Given the description of an element on the screen output the (x, y) to click on. 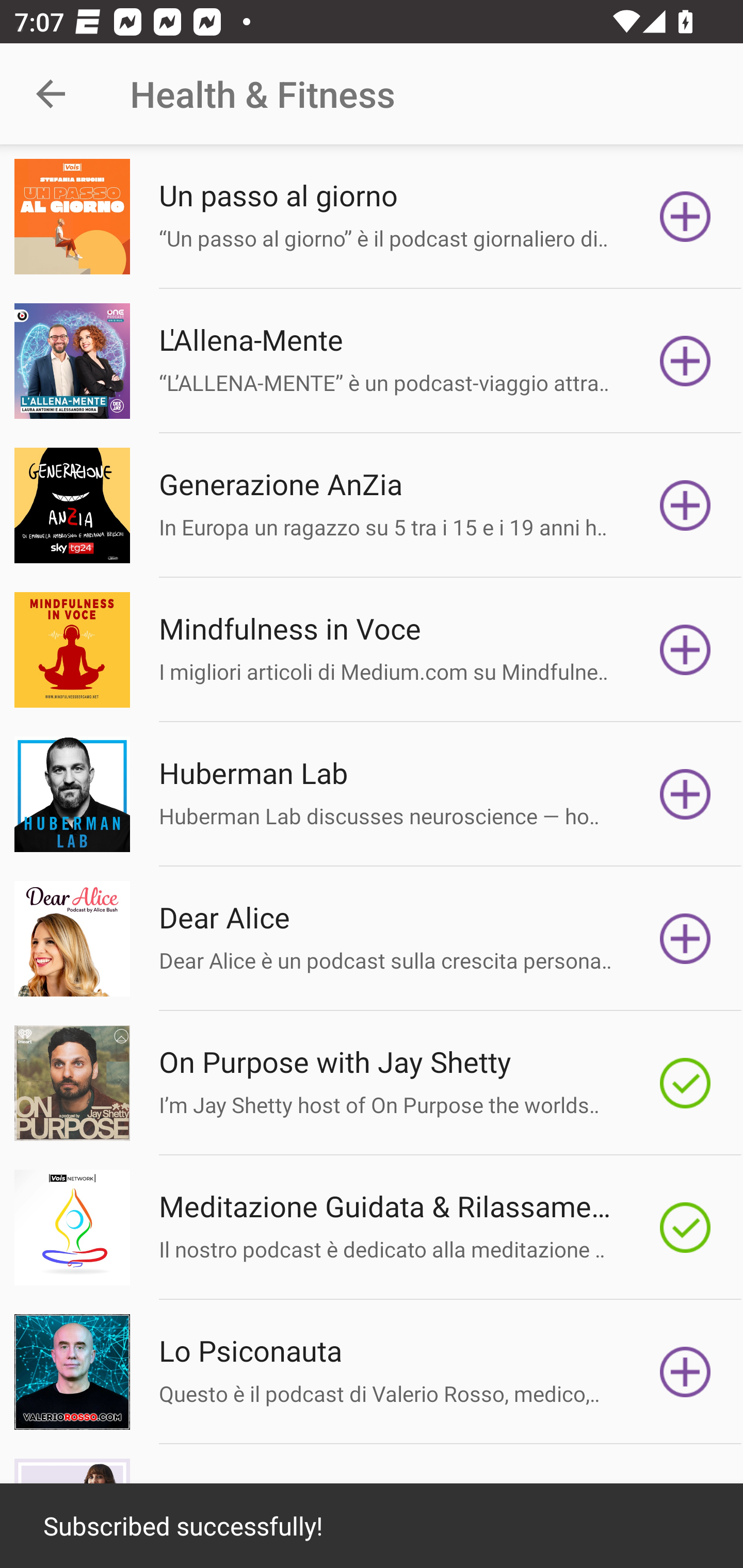
Navigate up (50, 93)
Subscribe (685, 216)
Subscribe (685, 360)
Subscribe (685, 505)
Subscribe (685, 649)
Subscribe (685, 793)
Subscribe (685, 939)
Subscribed (685, 1083)
Subscribed (685, 1227)
Subscribe (685, 1371)
Subscribed successfully! (371, 1525)
